Given the description of an element on the screen output the (x, y) to click on. 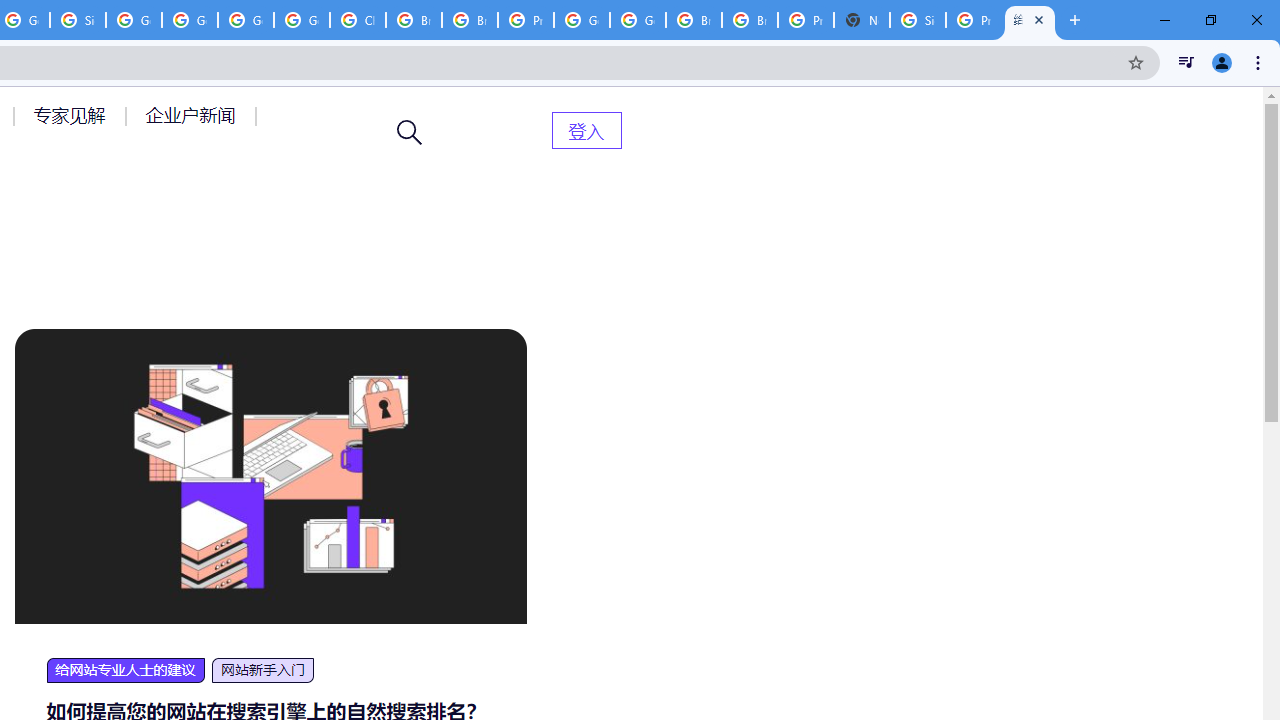
New Tab (861, 20)
Browse Chrome as a guest - Computer - Google Chrome Help (469, 20)
